Given the description of an element on the screen output the (x, y) to click on. 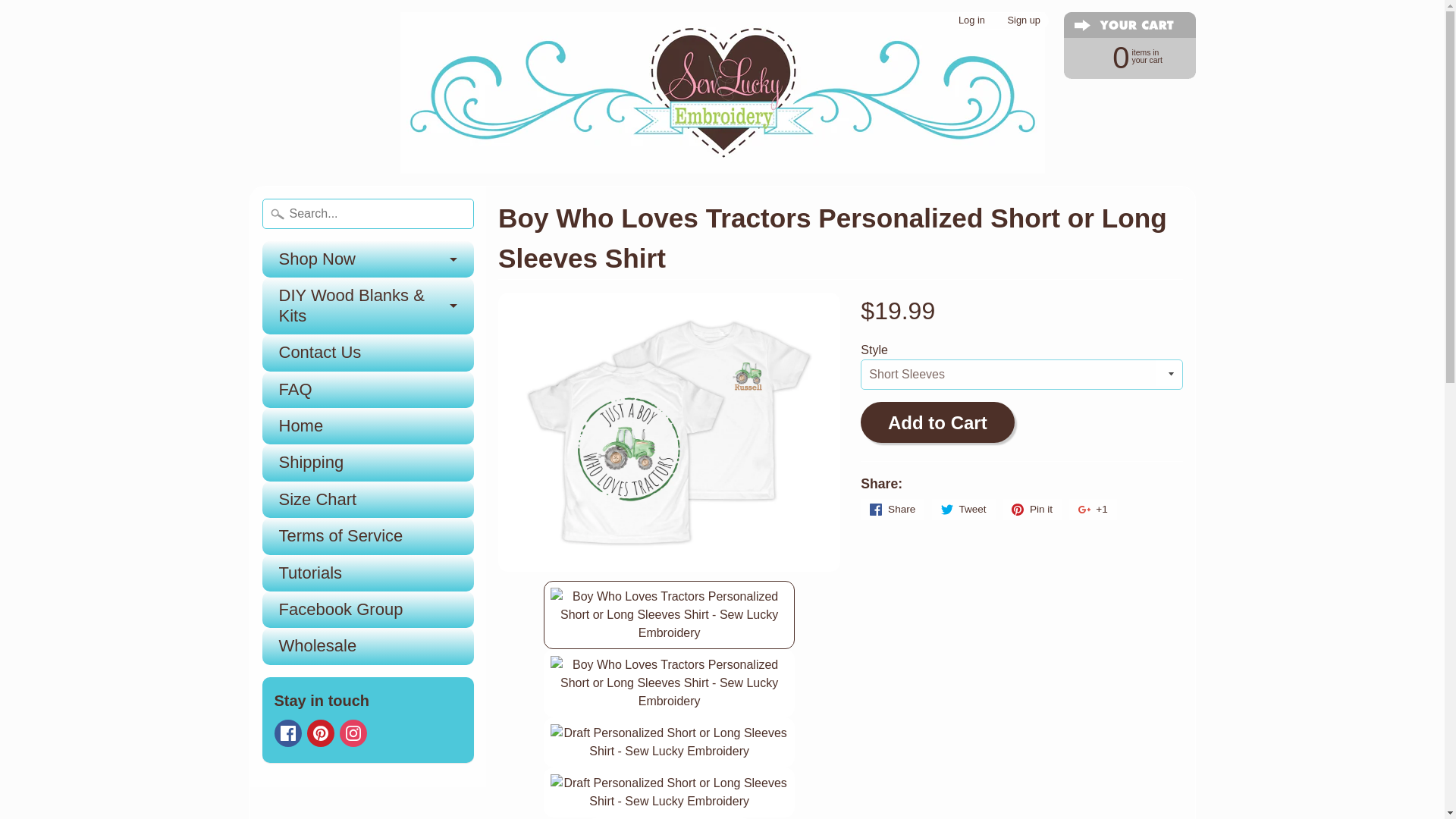
Sew Lucky Embroidery (722, 92)
Shop Now (1122, 56)
Sign up (368, 258)
Log in (1024, 20)
